Given the description of an element on the screen output the (x, y) to click on. 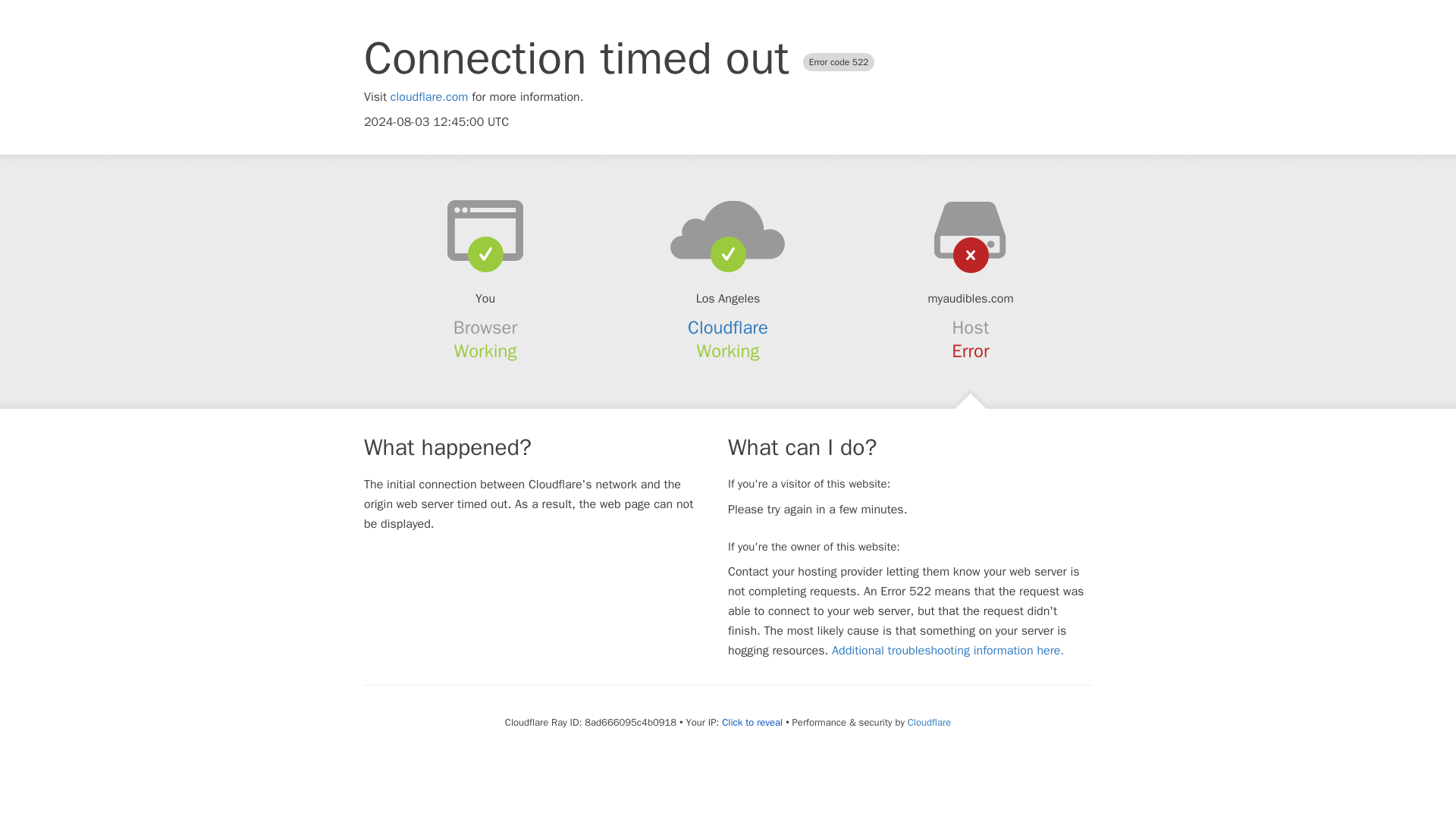
cloudflare.com (429, 96)
Cloudflare (928, 721)
Click to reveal (752, 722)
Cloudflare (727, 327)
Additional troubleshooting information here. (947, 650)
